Given the description of an element on the screen output the (x, y) to click on. 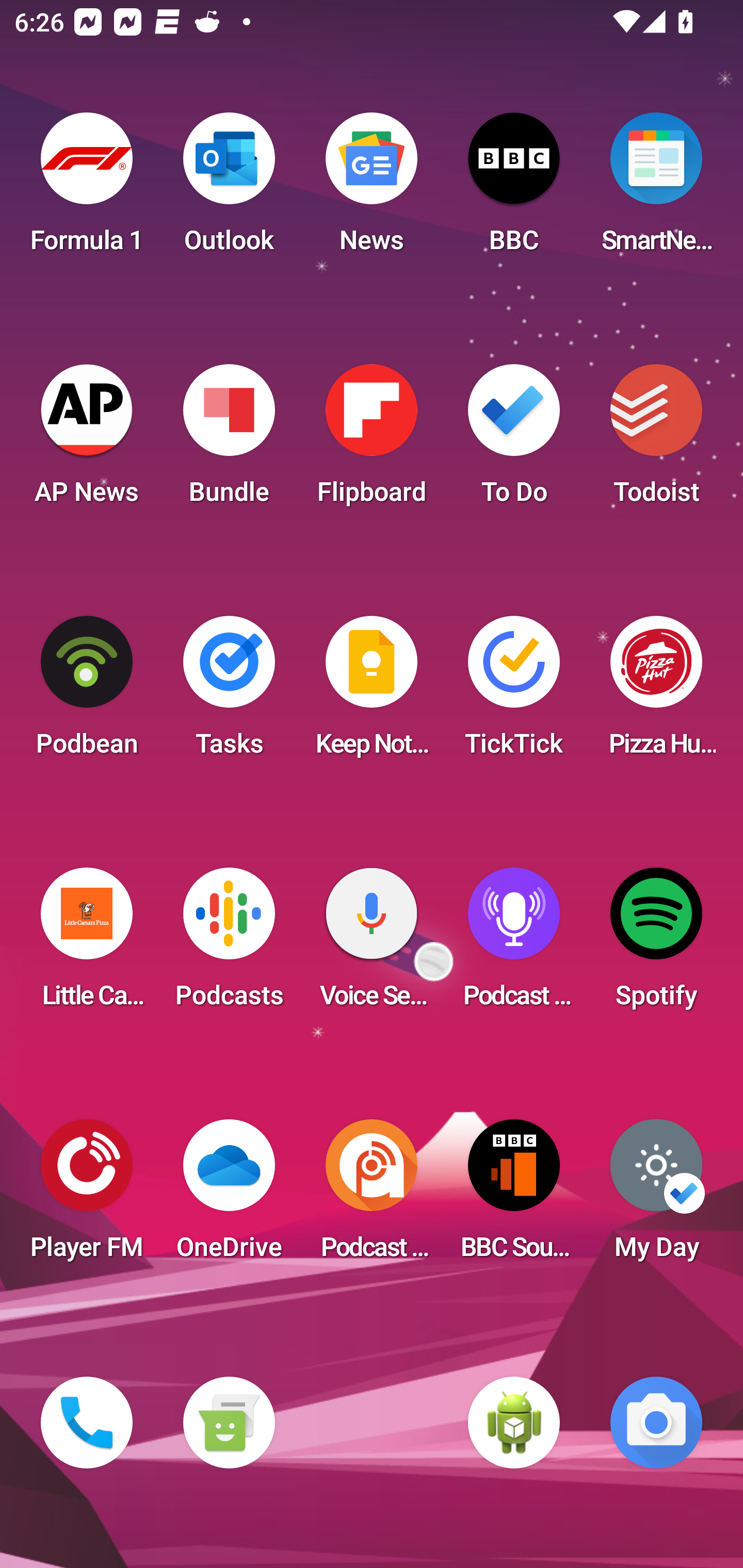
Formula 1 (86, 188)
Outlook (228, 188)
News (371, 188)
BBC (513, 188)
SmartNews (656, 188)
AP News (86, 440)
Bundle (228, 440)
Flipboard (371, 440)
To Do (513, 440)
Todoist (656, 440)
Podbean (86, 692)
Tasks (228, 692)
Keep Notes (371, 692)
TickTick (513, 692)
Pizza Hut HK & Macau (656, 692)
Little Caesars Pizza (86, 943)
Podcasts (228, 943)
Voice Search (371, 943)
Podcast Player (513, 943)
Spotify (656, 943)
Player FM (86, 1195)
OneDrive (228, 1195)
Podcast Addict (371, 1195)
BBC Sounds (513, 1195)
My Day (656, 1195)
Phone (86, 1422)
Messaging (228, 1422)
WebView Browser Tester (513, 1422)
Camera (656, 1422)
